Given the description of an element on the screen output the (x, y) to click on. 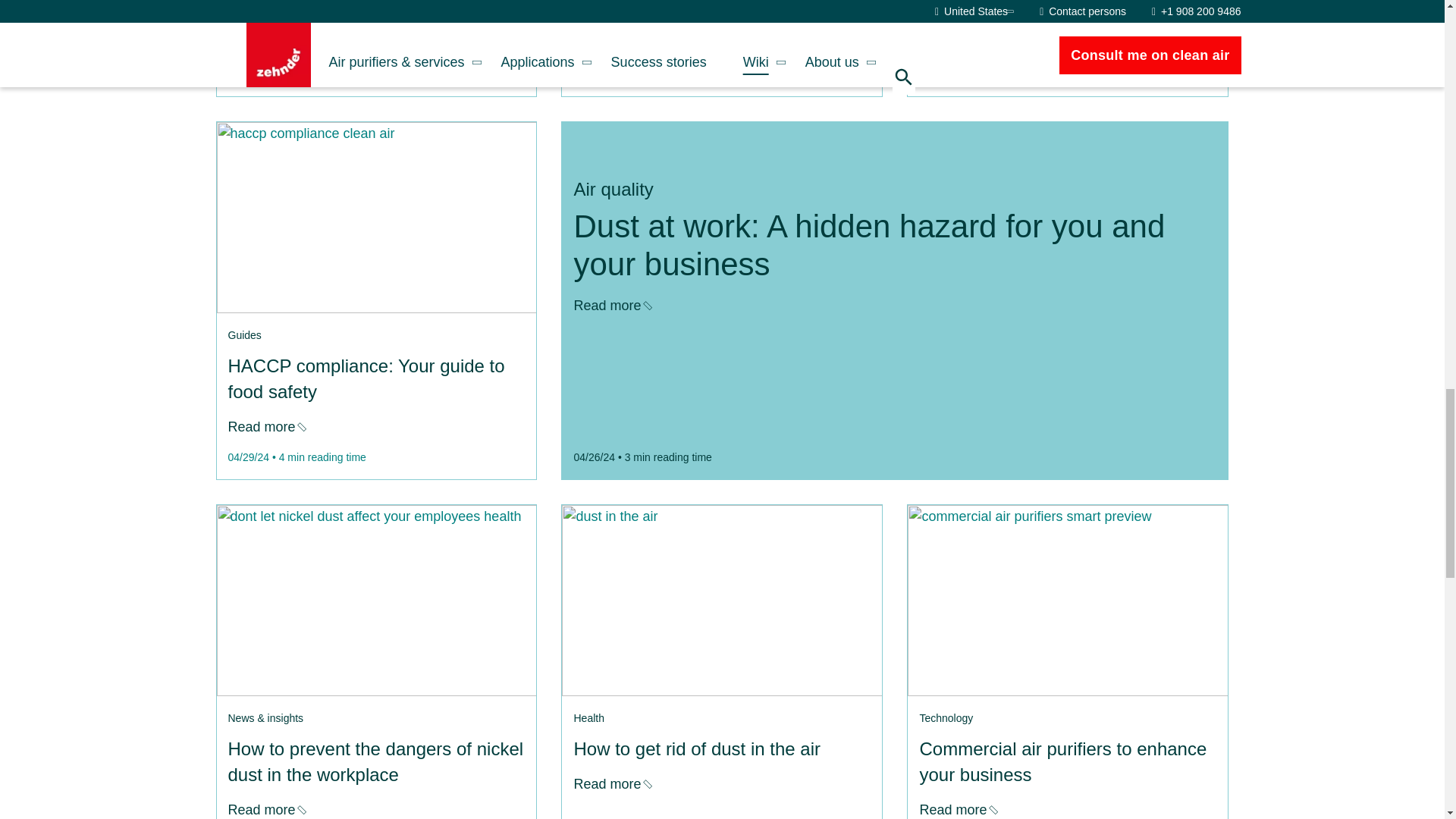
How to ensure your workplace is silica dust safe (956, 43)
Dust at work: A hidden hazard for you and your business (611, 305)
HACCP compliance: Your guide to food safety (375, 217)
Unseen risks: Clean your air from cardboard dust hazards (611, 43)
HACCP compliance: Your guide to food safety (265, 426)
